Given the description of an element on the screen output the (x, y) to click on. 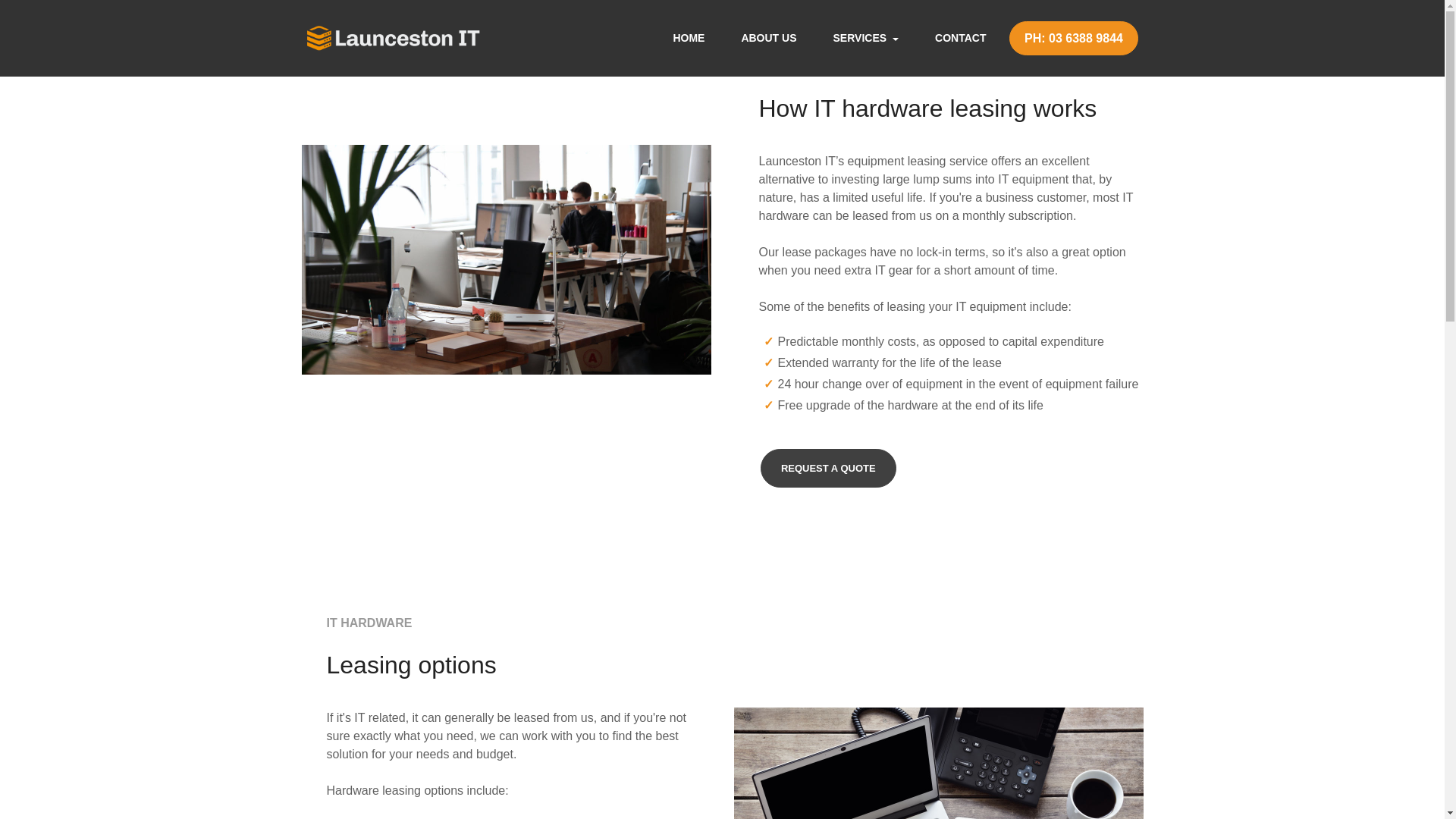
CONTACT (960, 38)
Launceston IT (392, 38)
ABOUT US (767, 38)
REQUEST A QUOTE (828, 467)
PH: 03 6388 9844 (1073, 38)
HOME (687, 38)
SERVICES (866, 38)
